Given the description of an element on the screen output the (x, y) to click on. 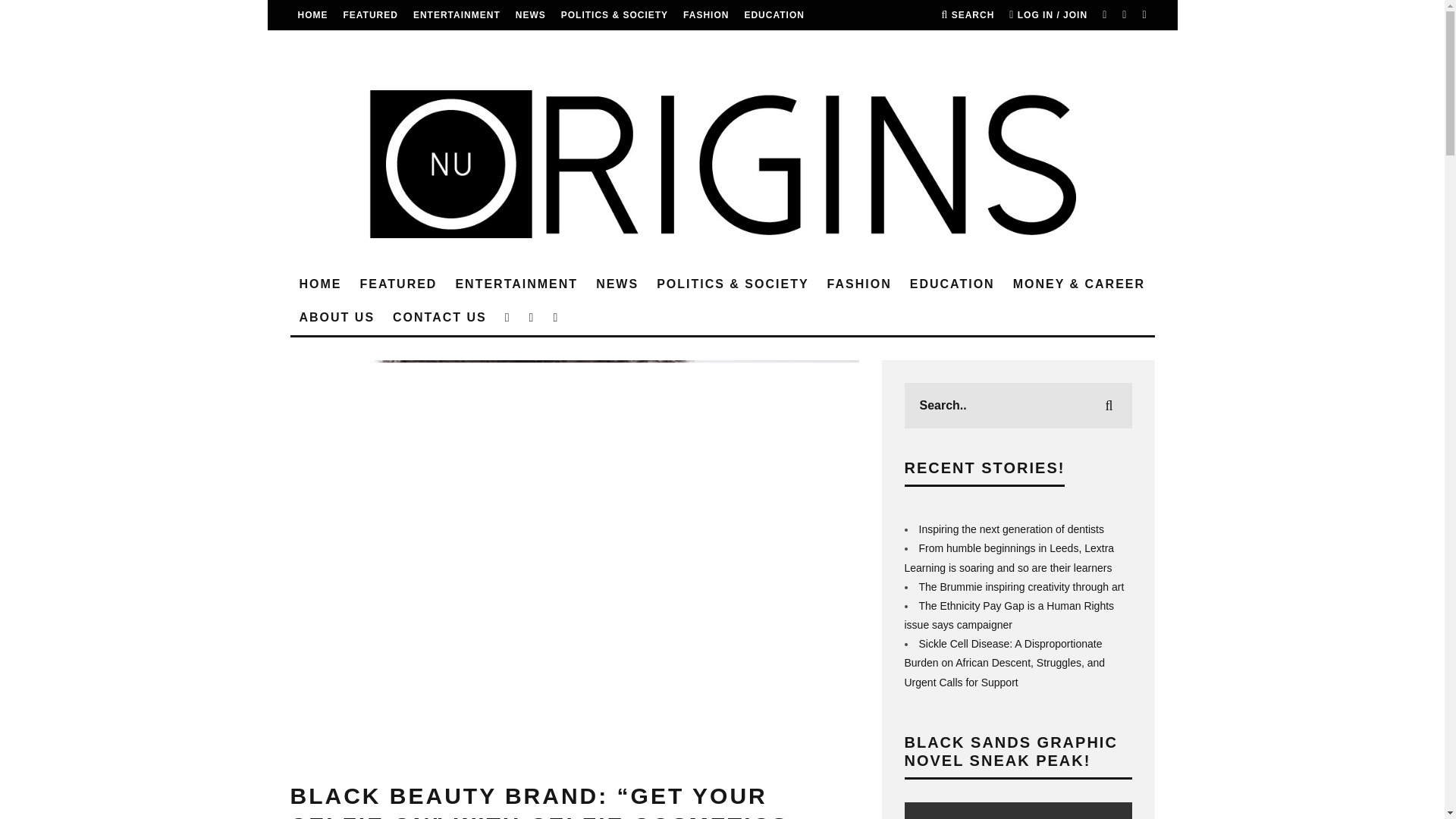
EDUCATION (773, 15)
CONTACT US (508, 45)
Search (968, 15)
ABOUT US (433, 45)
NEWS (530, 15)
FASHION (705, 15)
ENTERTAINMENT (456, 15)
Log In (721, 409)
HOME (319, 284)
SEARCH (968, 15)
